Given the description of an element on the screen output the (x, y) to click on. 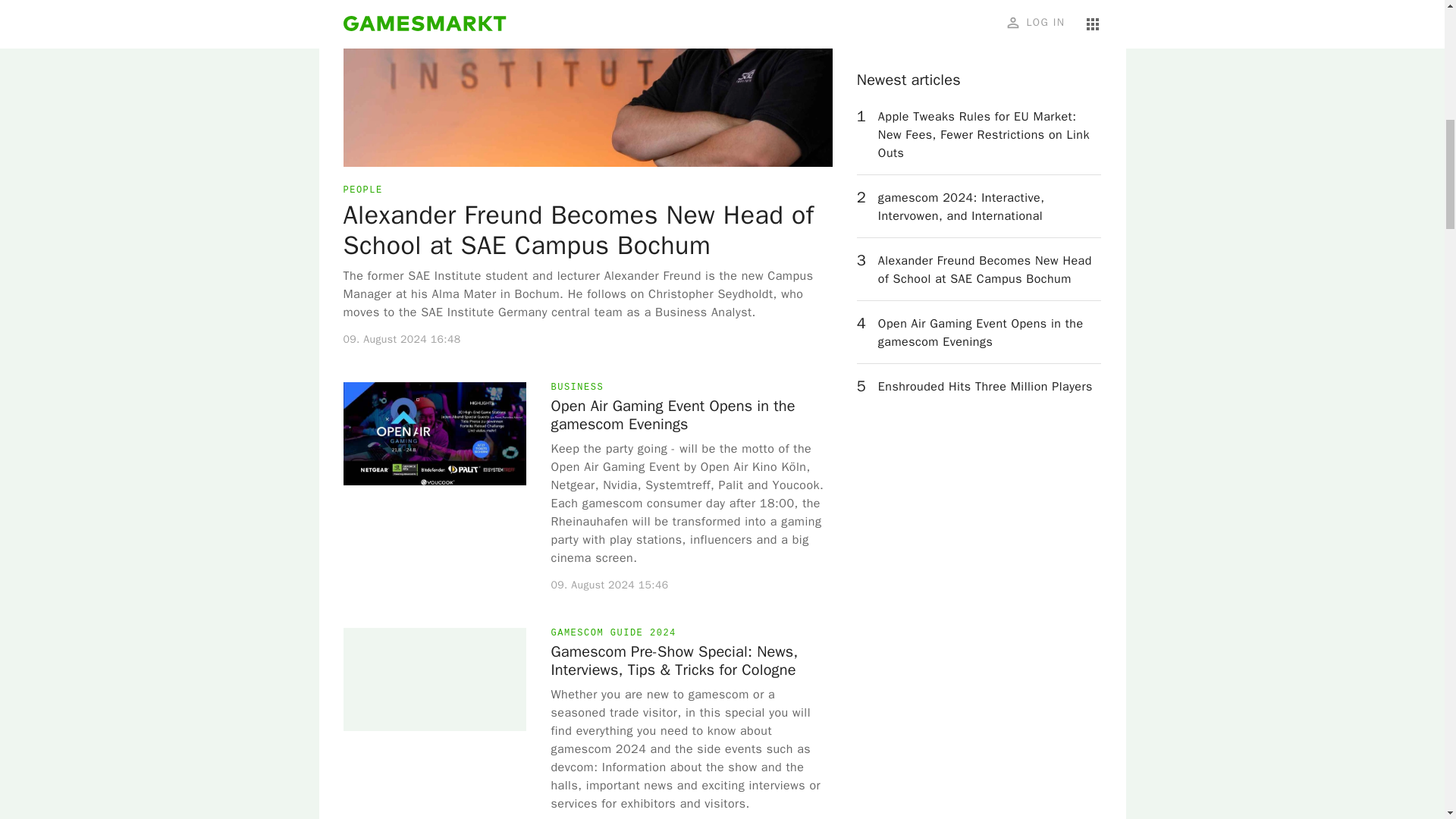
gamescom 2024: Interactive, Intervowen, and International (989, 25)
Open Air Gaming Event Opens in the gamescom Evenings (989, 151)
Enshrouded Hits Three Million Players (985, 205)
